Given the description of an element on the screen output the (x, y) to click on. 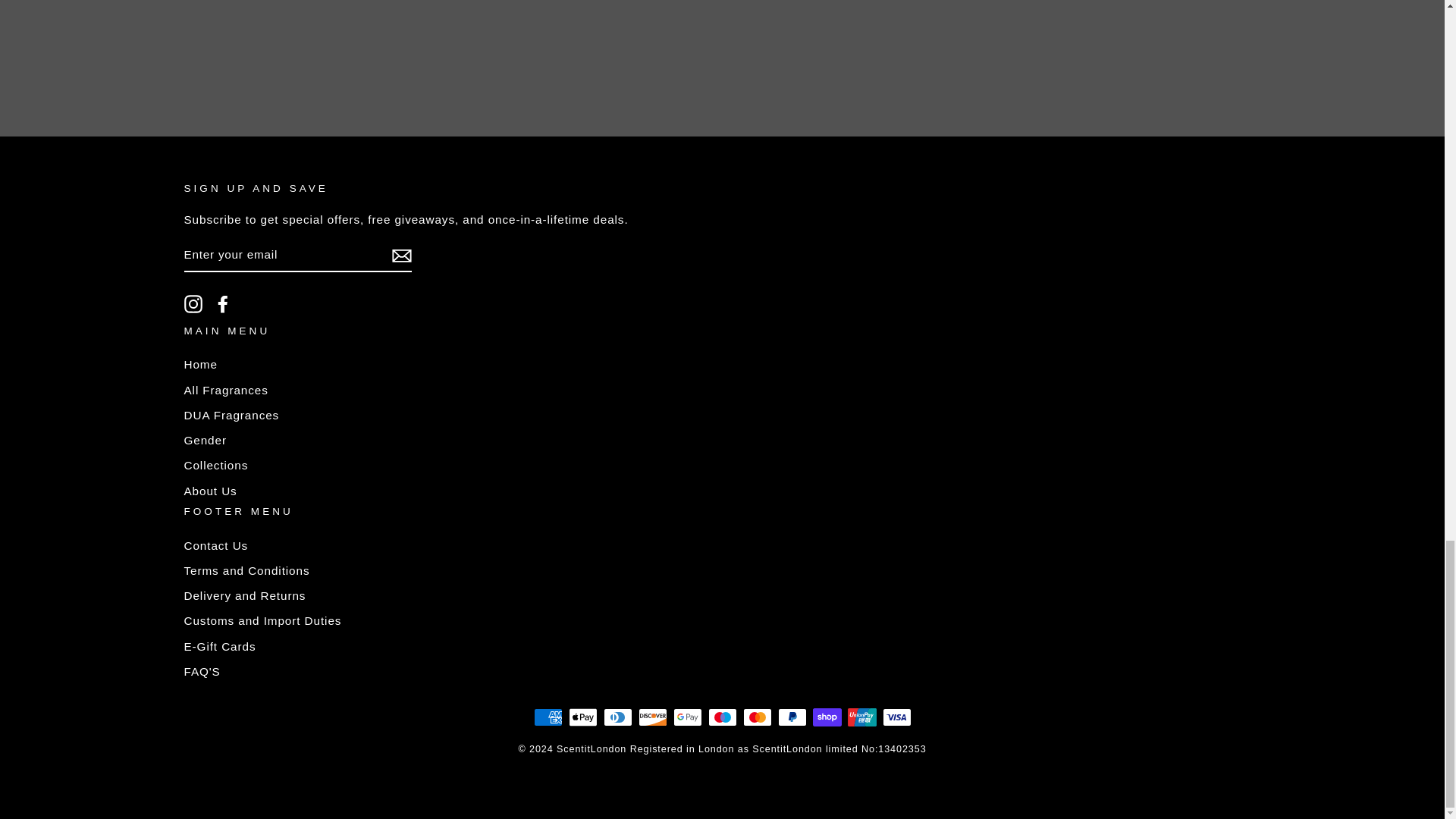
PayPal (791, 717)
Apple Pay (582, 717)
ScentitLondon on Instagram (192, 303)
Google Pay (686, 717)
Discover (652, 717)
American Express (548, 717)
Mastercard (756, 717)
Shop Pay (826, 717)
Diners Club (617, 717)
Maestro (721, 717)
ScentitLondon on Facebook (222, 303)
